Given the description of an element on the screen output the (x, y) to click on. 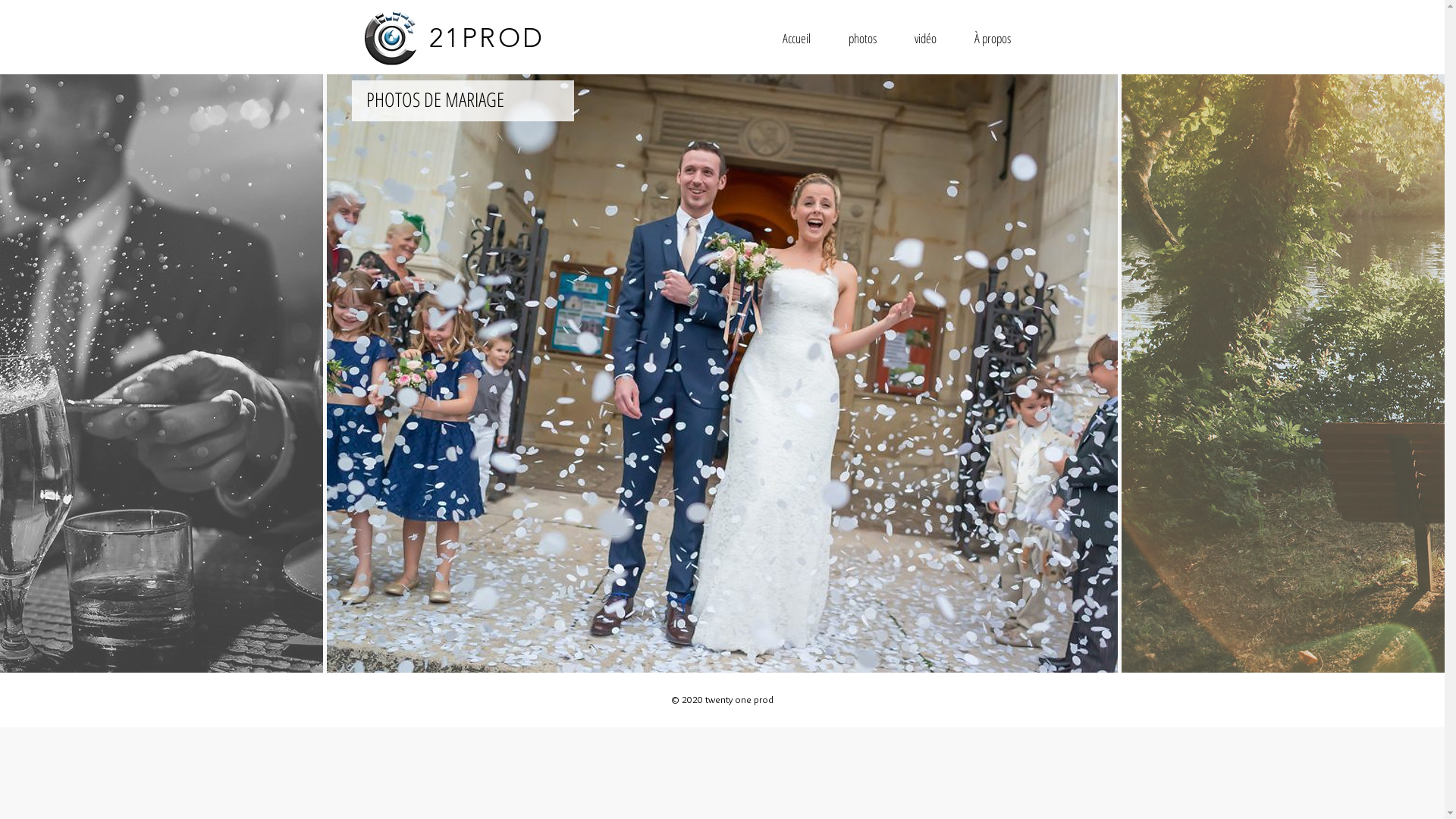
21PROD Element type: text (487, 37)
Accueil Element type: text (795, 37)
